Given the description of an element on the screen output the (x, y) to click on. 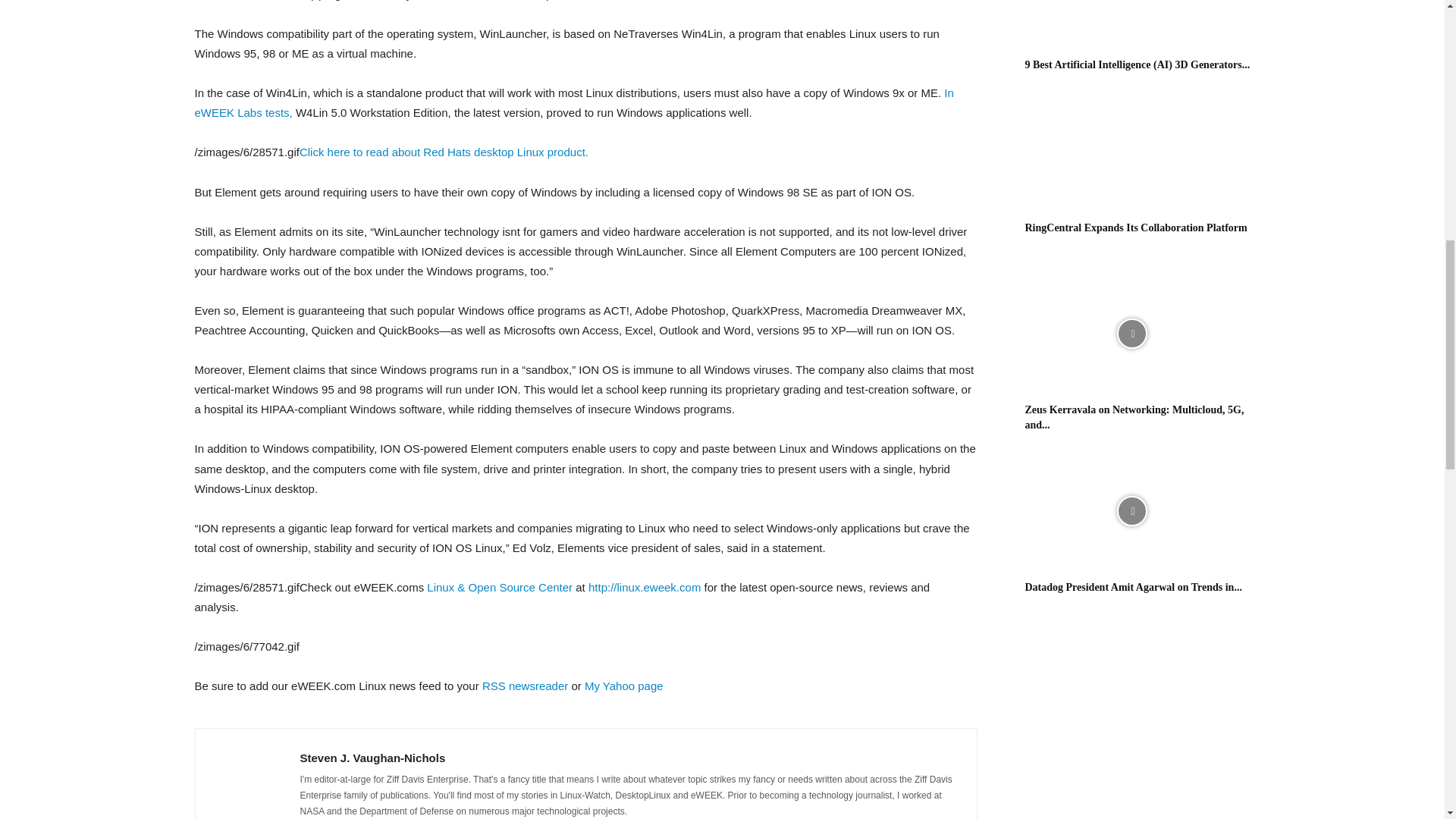
RingCentral Expands Its Collaboration Platform (1131, 151)
Zeus Kerravala on Networking: Multicloud, 5G, and Automation (1134, 417)
RingCentral Expands Its Collaboration Platform (1136, 227)
Zeus Kerravala on Networking: Multicloud, 5G, and Automation (1131, 333)
